Given the description of an element on the screen output the (x, y) to click on. 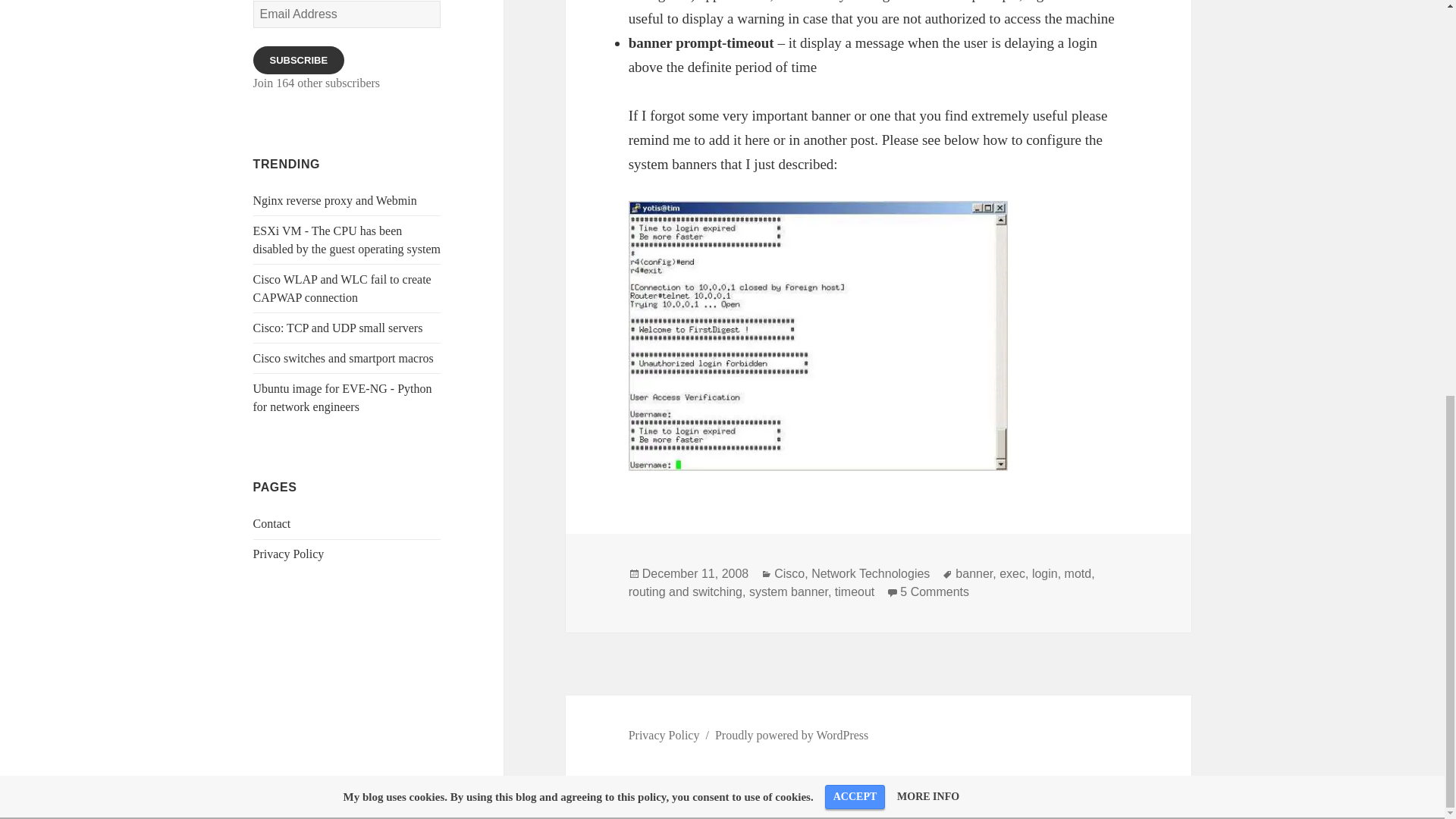
Privacy Policy (664, 735)
Network Technologies (870, 573)
system banner (788, 591)
December 11, 2008 (934, 591)
Cisco switches and smartport macros (695, 573)
Cisco: TCP and UDP small servers (343, 358)
banner (338, 327)
Cisco (973, 573)
Nginx reverse proxy and Webmin (789, 573)
Cisco WLAP and WLC fail to create CAPWAP connection (334, 200)
routing and switching (341, 287)
SUBSCRIBE (685, 591)
Cisco system banners (299, 59)
